Given the description of an element on the screen output the (x, y) to click on. 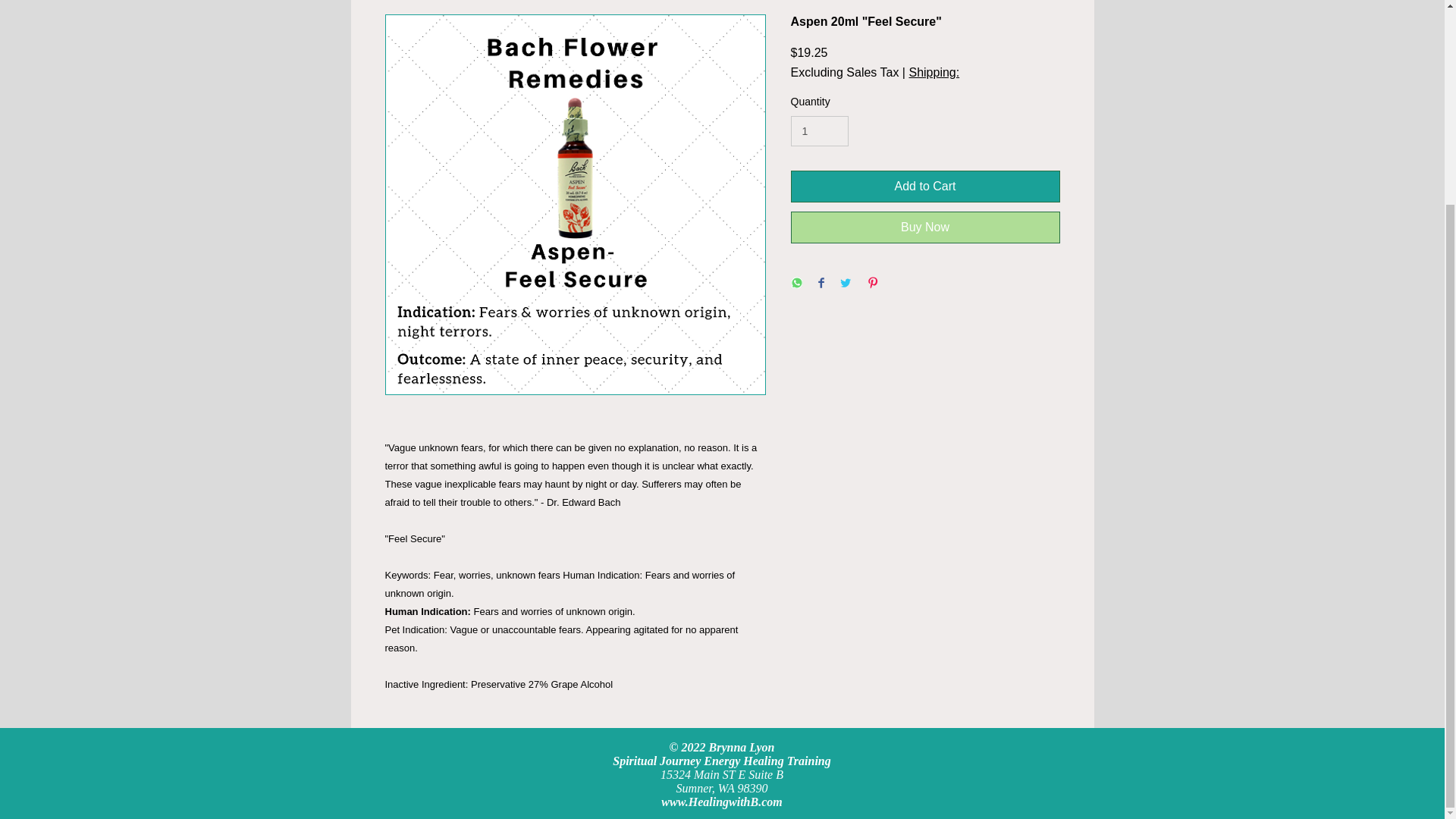
Shipping: (933, 72)
www.HealingwithB.com (721, 801)
1 (818, 131)
Buy Now (924, 227)
Add to Cart (924, 186)
